Given the description of an element on the screen output the (x, y) to click on. 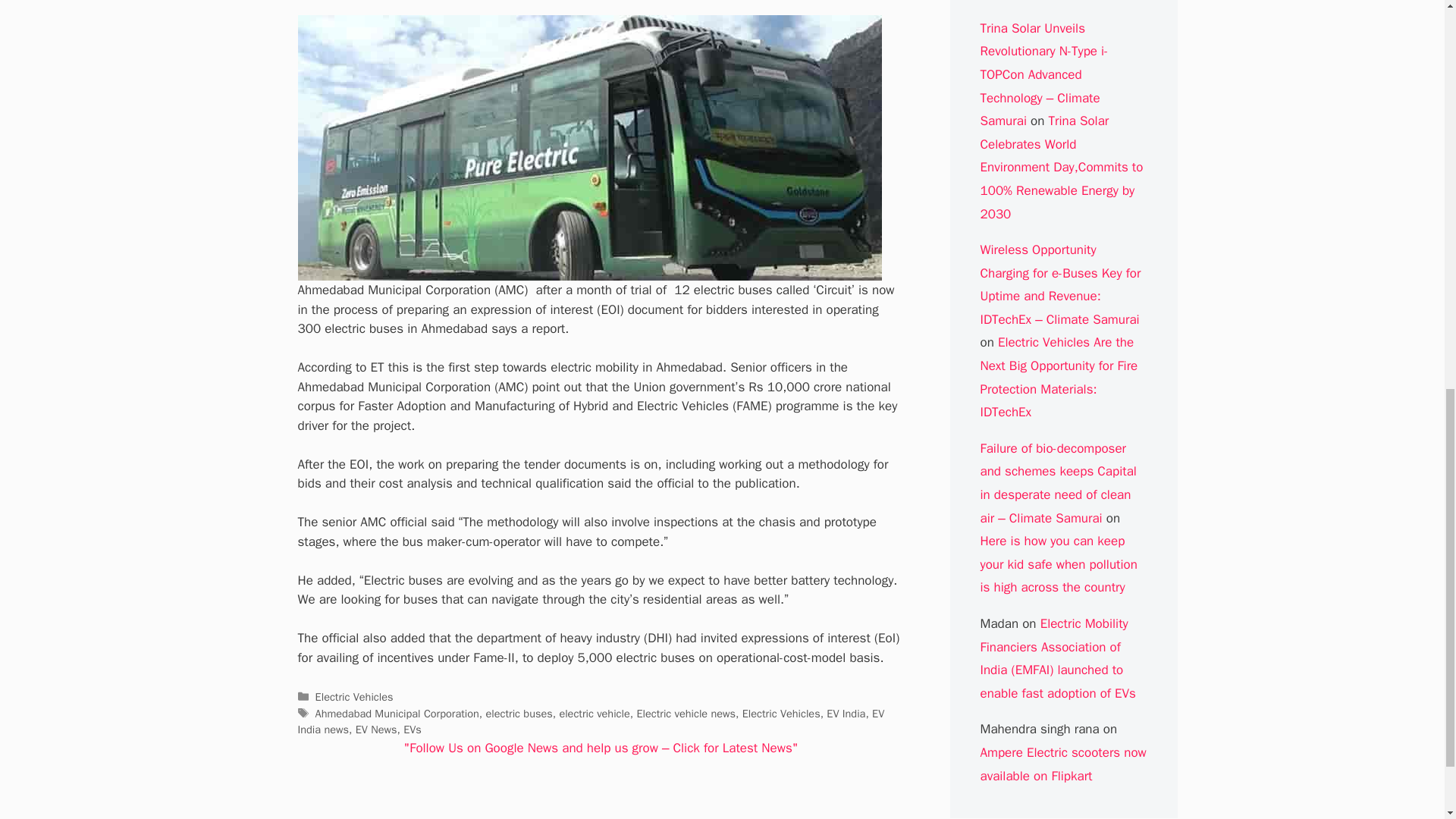
Electric Vehicles (781, 713)
Electric vehicle news (685, 713)
electric buses (517, 713)
Electric Vehicles (354, 696)
EV India news (590, 721)
EV News (376, 729)
Ahmedabad Municipal Corporation (397, 713)
EV India (845, 713)
EVs (412, 729)
electric vehicle (593, 713)
